Given the description of an element on the screen output the (x, y) to click on. 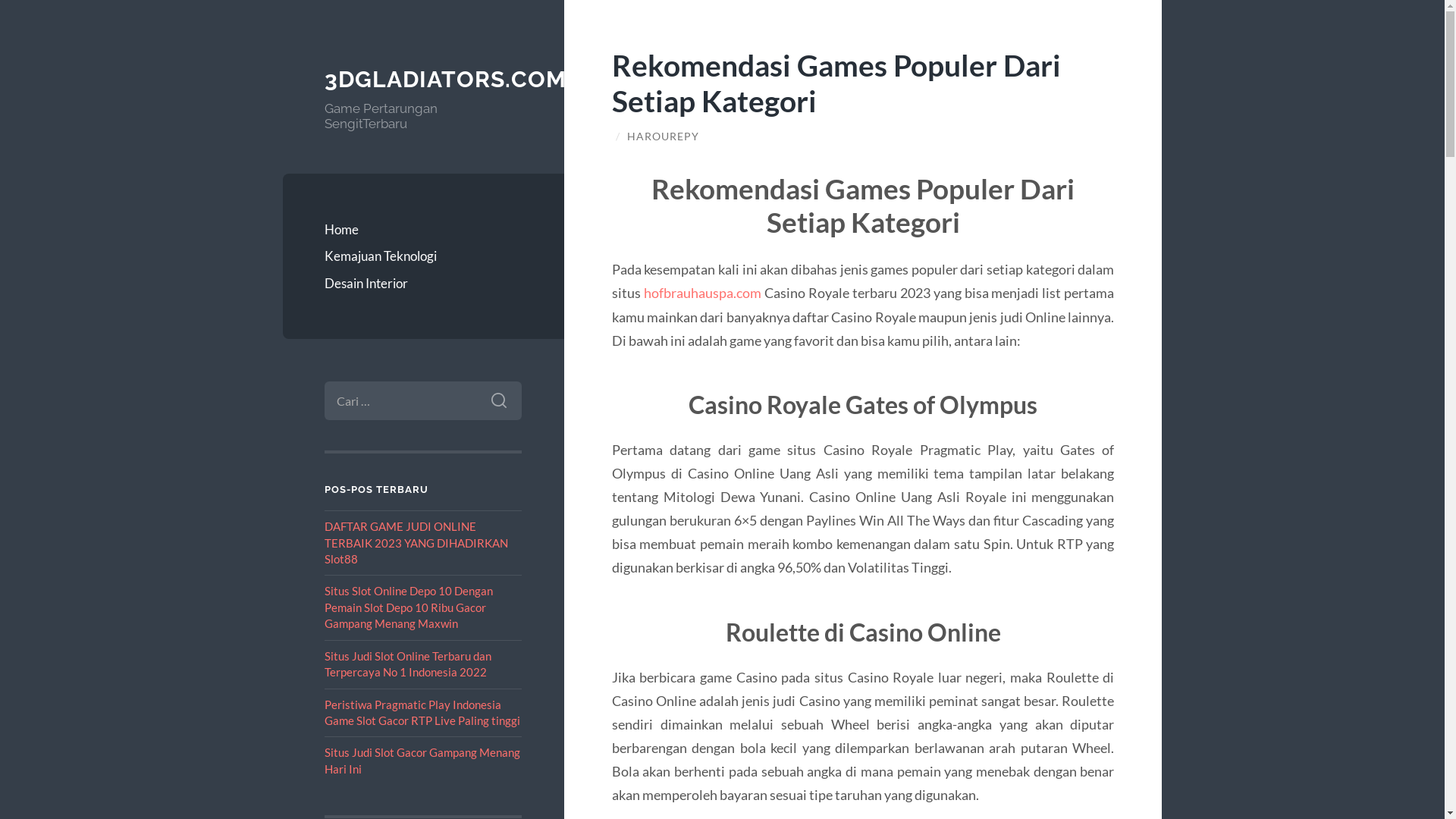
HAROUREPY Element type: text (663, 136)
3DGLADIATORS.COM Element type: text (445, 78)
Cari Element type: text (498, 400)
DAFTAR GAME JUDI ONLINE TERBAIK 2023 YANG DIHADIRKAN Slot88 Element type: text (416, 542)
Kemajuan Teknologi Element type: text (422, 255)
Desain Interior Element type: text (422, 283)
Situs Judi Slot Gacor Gampang Menang Hari Ini Element type: text (422, 760)
Home Element type: text (422, 229)
hofbrauhauspa.com Element type: text (702, 292)
